Given the description of an element on the screen output the (x, y) to click on. 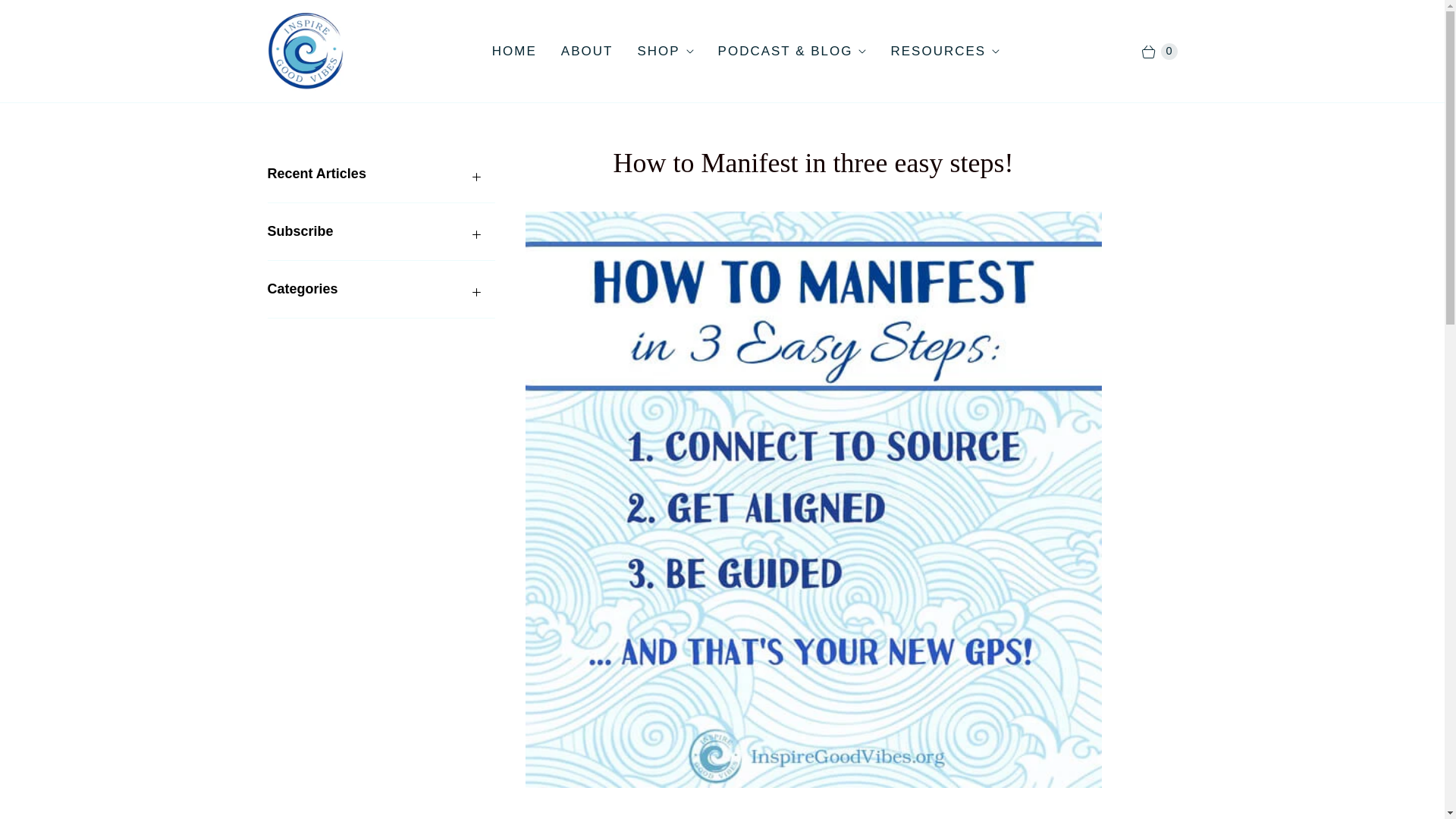
HOME (514, 51)
0 (1151, 51)
ABOUT (587, 51)
